Given the description of an element on the screen output the (x, y) to click on. 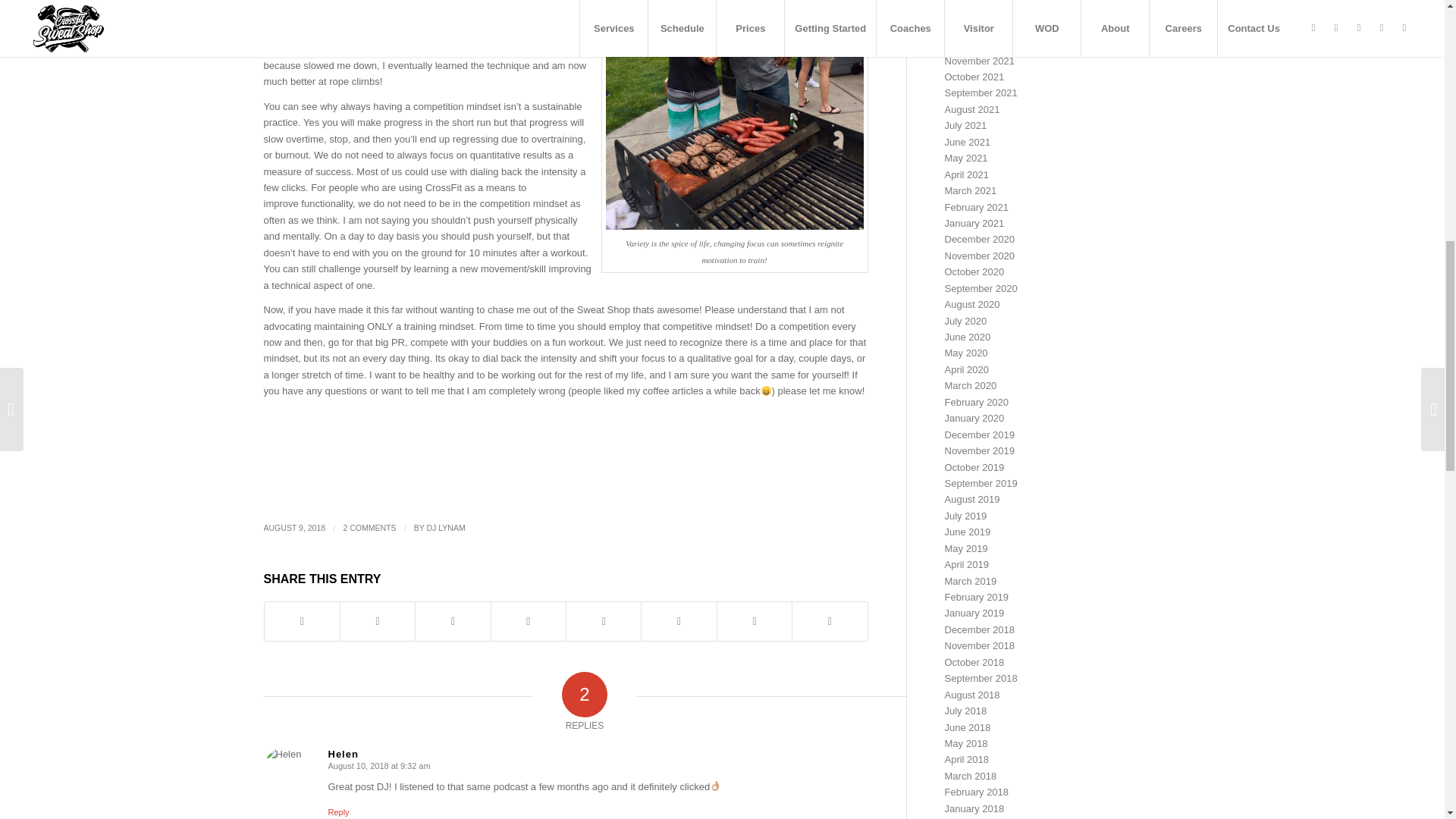
2 COMMENTS (369, 527)
Reply (338, 811)
Posts by DJ Lynam (445, 527)
August 10, 2018 at 9:32 am (378, 765)
DJ LYNAM (445, 527)
